Given the description of an element on the screen output the (x, y) to click on. 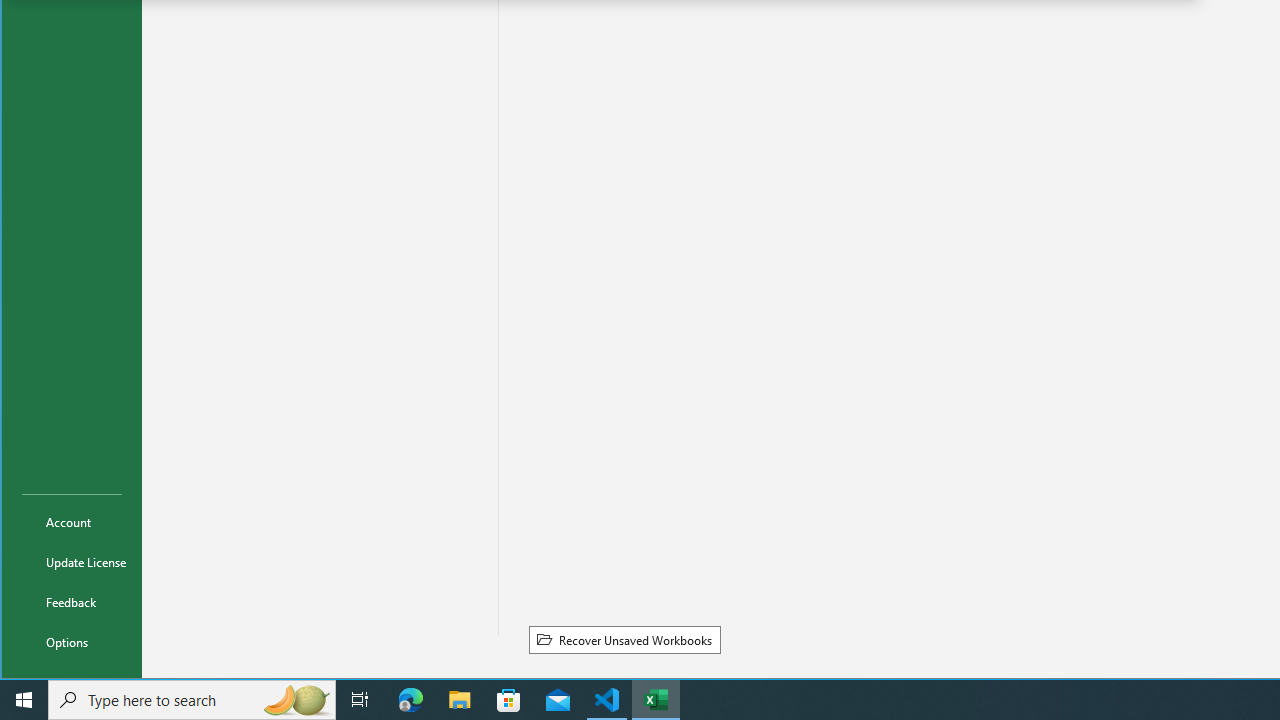
Start (24, 699)
Visual Studio Code - 1 running window (607, 699)
Microsoft Edge (411, 699)
Search highlights icon opens search home window (295, 699)
Microsoft Store (509, 699)
Type here to search (191, 699)
Feedback (72, 601)
Excel - 1 running window (656, 699)
Recover Unsaved Workbooks (624, 639)
File Explorer (460, 699)
Options (72, 641)
Update License (72, 561)
Account (72, 521)
Task View (359, 699)
